Given the description of an element on the screen output the (x, y) to click on. 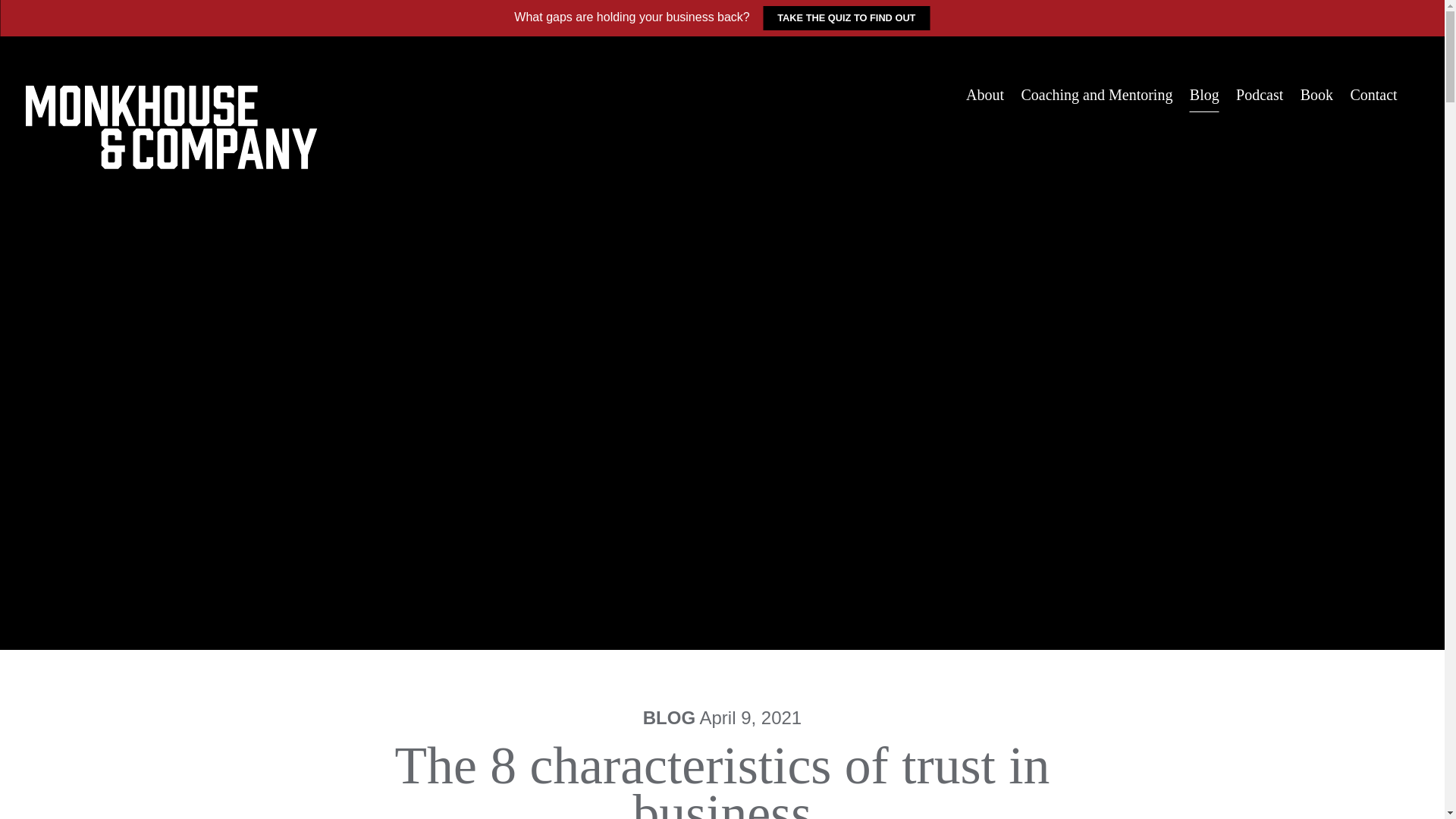
Contact (1372, 95)
About (985, 95)
TAKE THE QUIZ TO FIND OUT (846, 17)
Book (1316, 95)
Coaching and Mentoring (1096, 95)
Podcast (1259, 95)
